Given the description of an element on the screen output the (x, y) to click on. 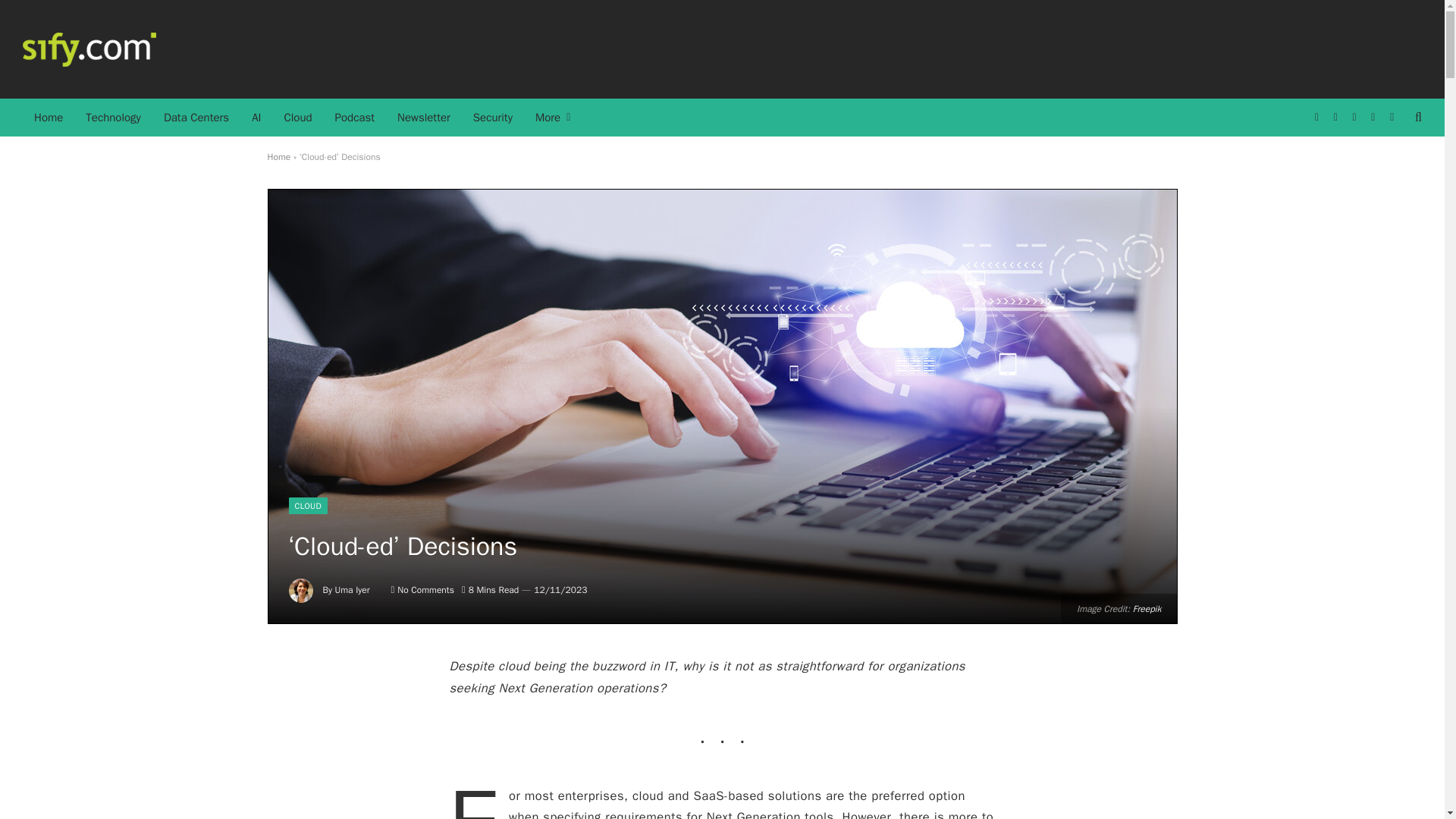
Sify (89, 48)
Podcast (354, 117)
Data Centers (196, 117)
CLOUD (307, 505)
Newsletter (423, 117)
Security (492, 117)
Home (277, 156)
Technology (113, 117)
Cloud (297, 117)
Posts by Uma Iyer (351, 589)
